Given the description of an element on the screen output the (x, y) to click on. 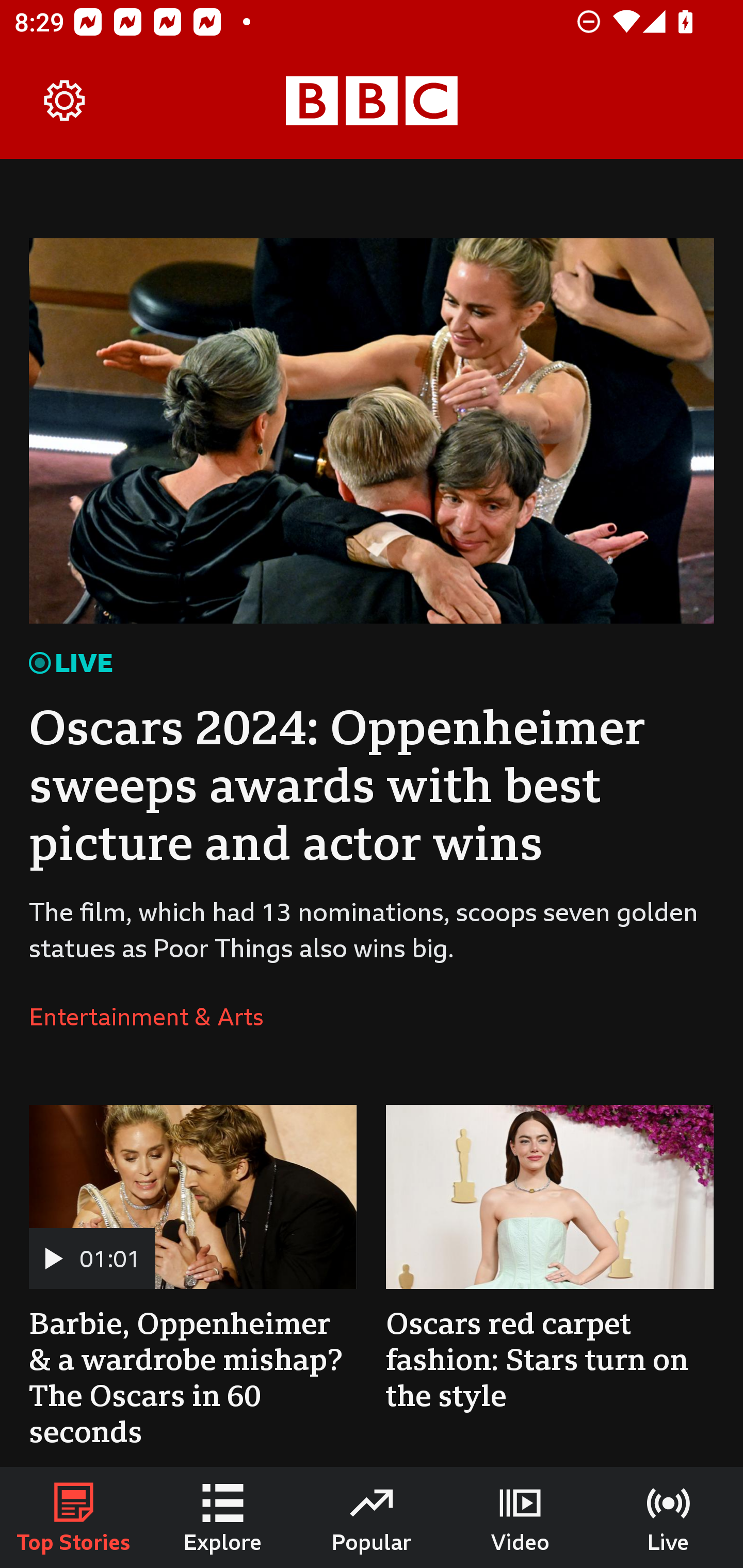
Settings (64, 100)
Explore (222, 1517)
Popular (371, 1517)
Video (519, 1517)
Live (668, 1517)
